Given the description of an element on the screen output the (x, y) to click on. 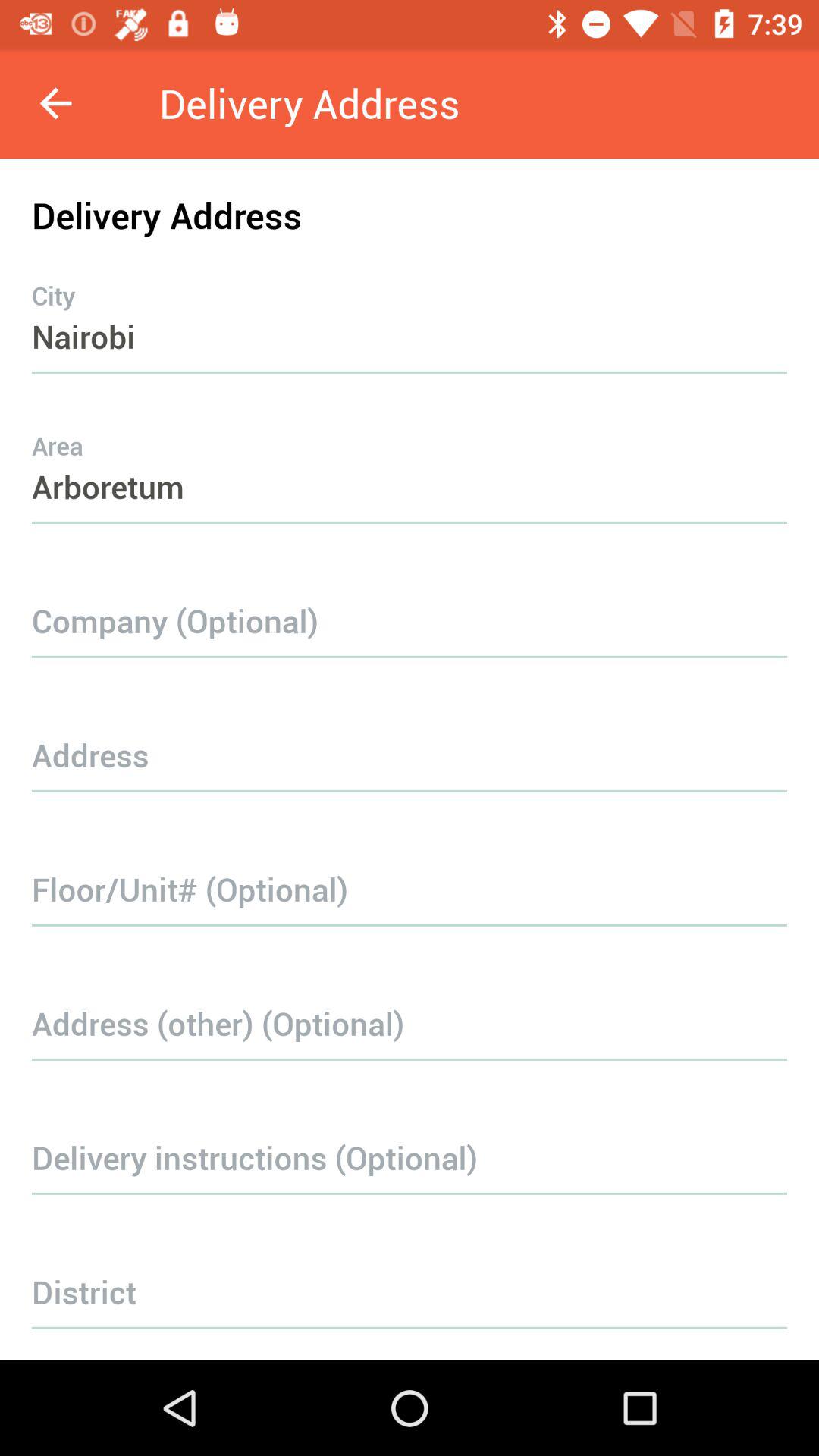
select icon below delivery address icon (409, 306)
